Given the description of an element on the screen output the (x, y) to click on. 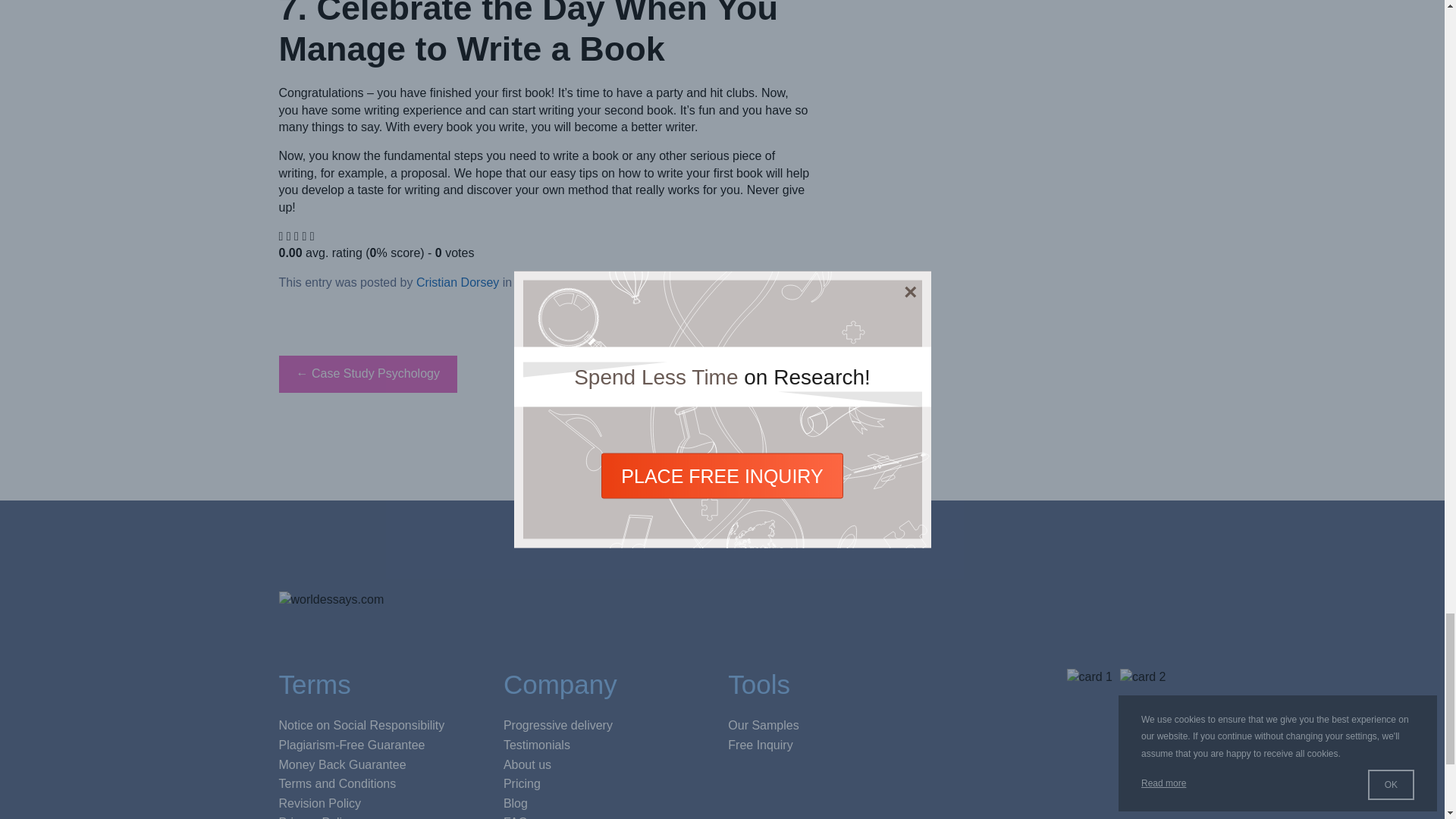
Writing Tips (546, 282)
Progressive Delivery (557, 725)
Cristian Dorsey (457, 282)
